Given the description of an element on the screen output the (x, y) to click on. 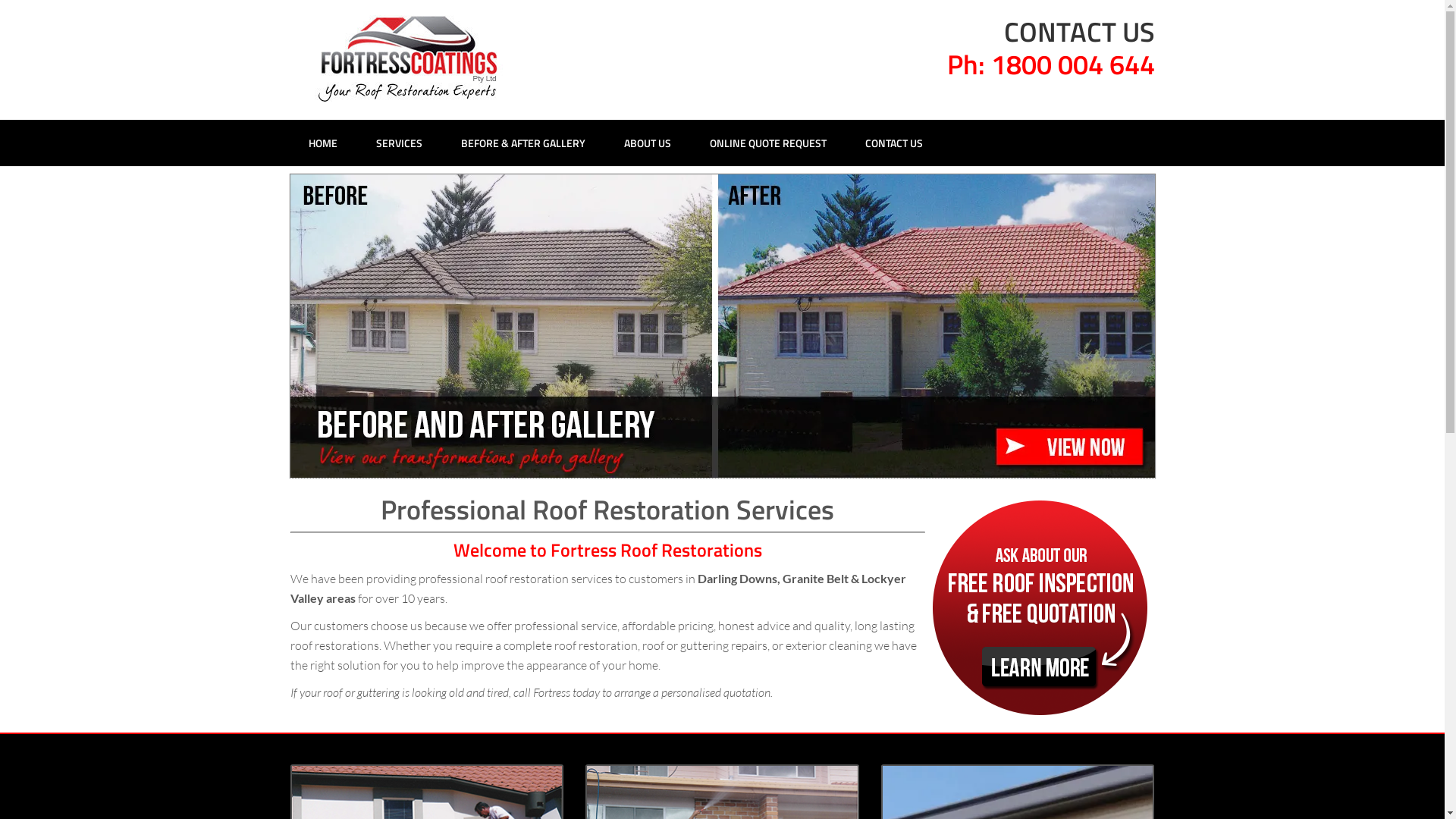
BEFORE & AFTER GALLERY Element type: text (522, 142)
CONTACT US Element type: text (893, 142)
SERVICES Element type: text (398, 142)
Fortress Roof Restorations Element type: text (410, 58)
ABOUT US Element type: text (646, 142)
HOME Element type: text (321, 142)
ONLINE QUOTE REQUEST Element type: text (767, 142)
